Given the description of an element on the screen output the (x, y) to click on. 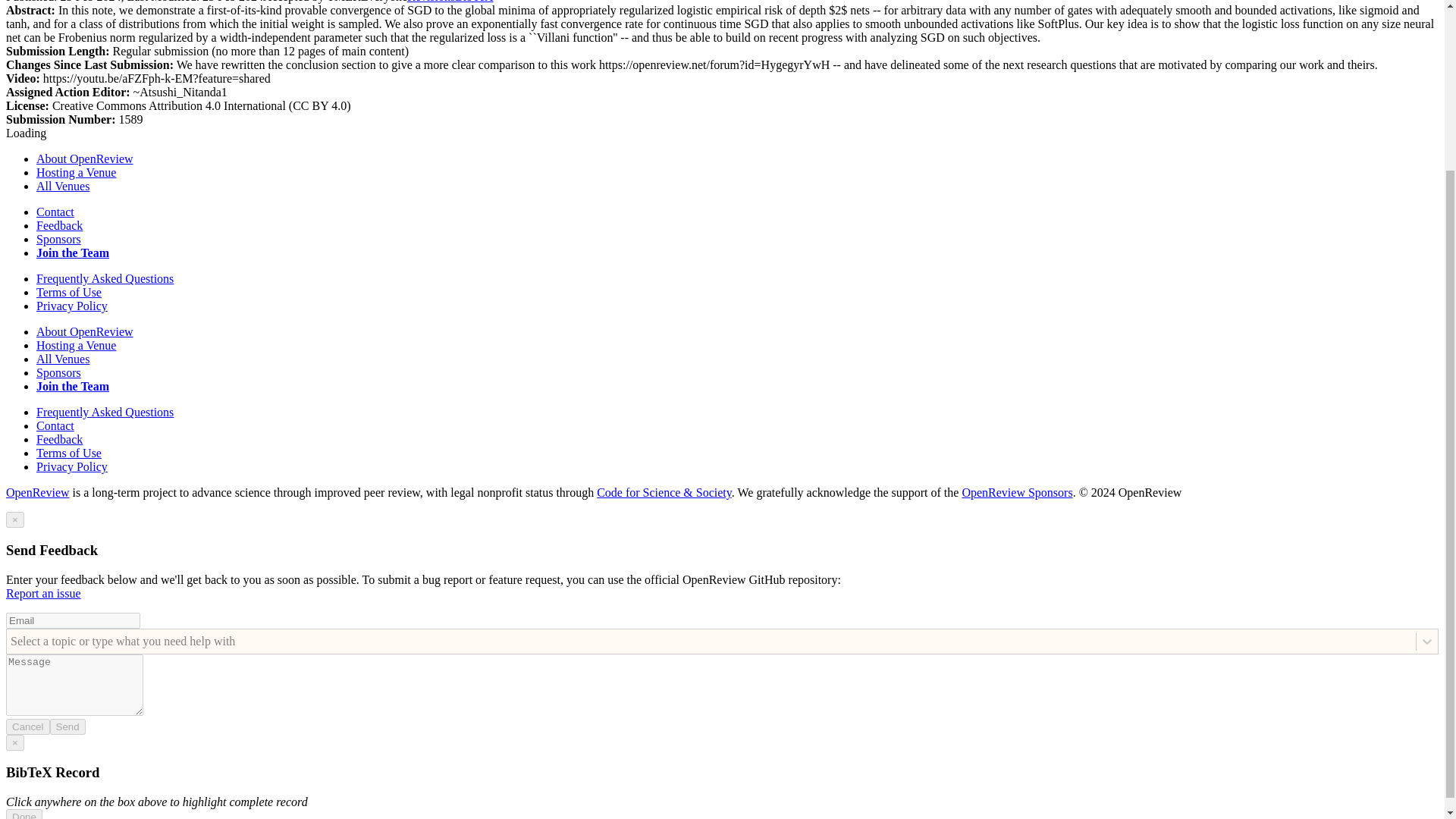
Feedback (59, 225)
Frequently Asked Questions (104, 411)
Privacy Policy (71, 466)
Hosting a Venue (76, 345)
Send (67, 726)
About OpenReview (84, 158)
All Venues (62, 185)
Report an issue (43, 593)
Privacy Policy (71, 305)
BibTeX (473, 1)
